Given the description of an element on the screen output the (x, y) to click on. 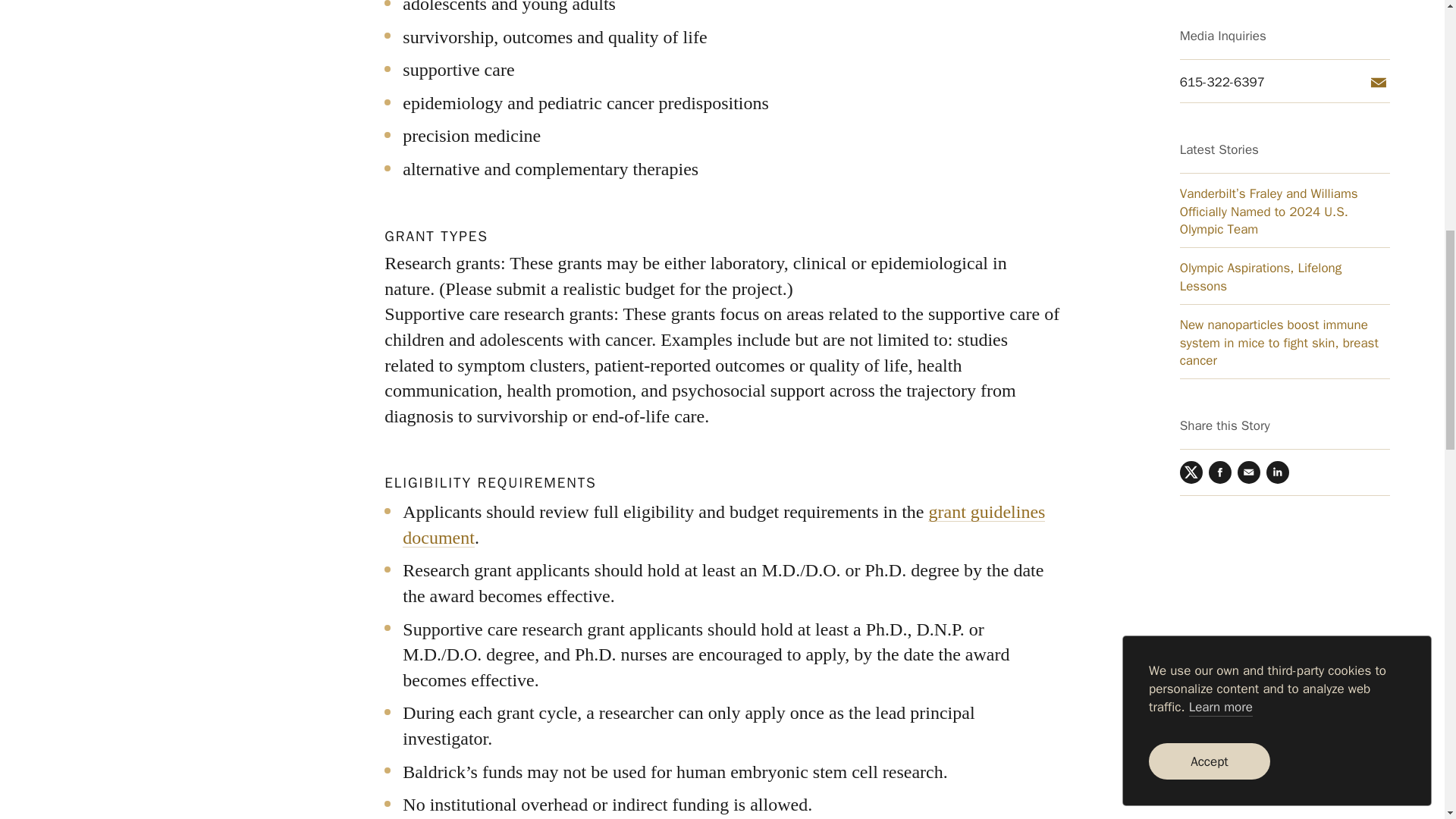
grant guidelines document (724, 524)
Facebook (1219, 105)
LinkedIn (1277, 105)
Email (1248, 105)
Twitter (1190, 105)
